Given the description of an element on the screen output the (x, y) to click on. 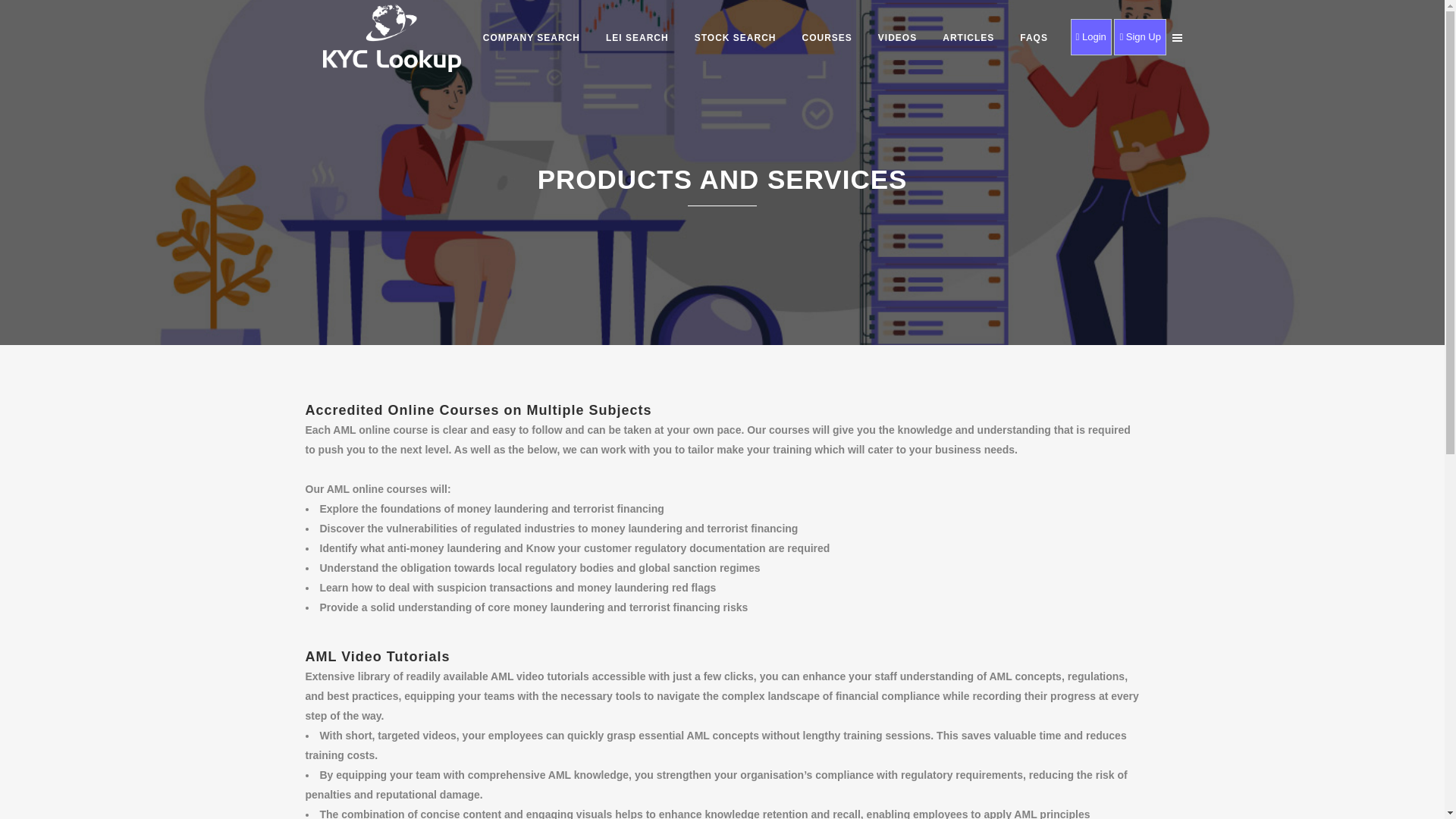
ARTICLES (968, 38)
LEI SEARCH (636, 38)
FAQS (1034, 38)
VIDEOS (897, 38)
Sign Up (1139, 36)
STOCK SEARCH (735, 38)
COURSES (826, 38)
COMPANY SEARCH (531, 38)
Sign Up (1139, 36)
Login (1092, 36)
Login (1091, 36)
